Given the description of an element on the screen output the (x, y) to click on. 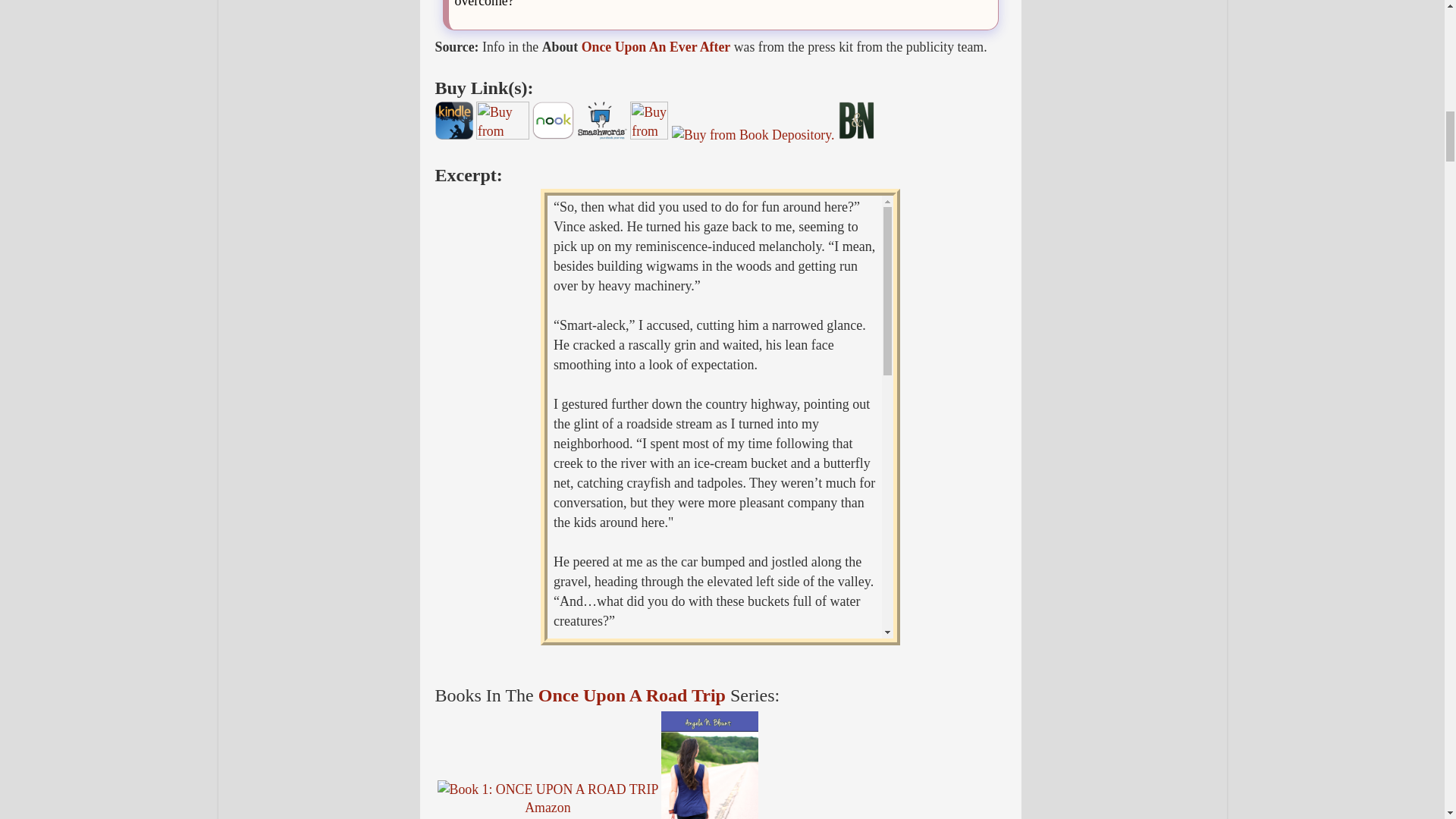
Buy from Smashwords. (602, 120)
Book 2: ONCE UPON AN EVER AFTER (709, 765)
Buy from Kobo. (502, 120)
Buy from amazon. (649, 120)
Once Upon A Road Trip (631, 695)
Amazon (547, 807)
Buy from Book Depository. (752, 135)
Once Upon An Ever After (655, 46)
Nook Buy (552, 120)
Book 1: ONCE UPON A ROAD TRIP (547, 789)
Kindle Buy (454, 120)
